Given the description of an element on the screen output the (x, y) to click on. 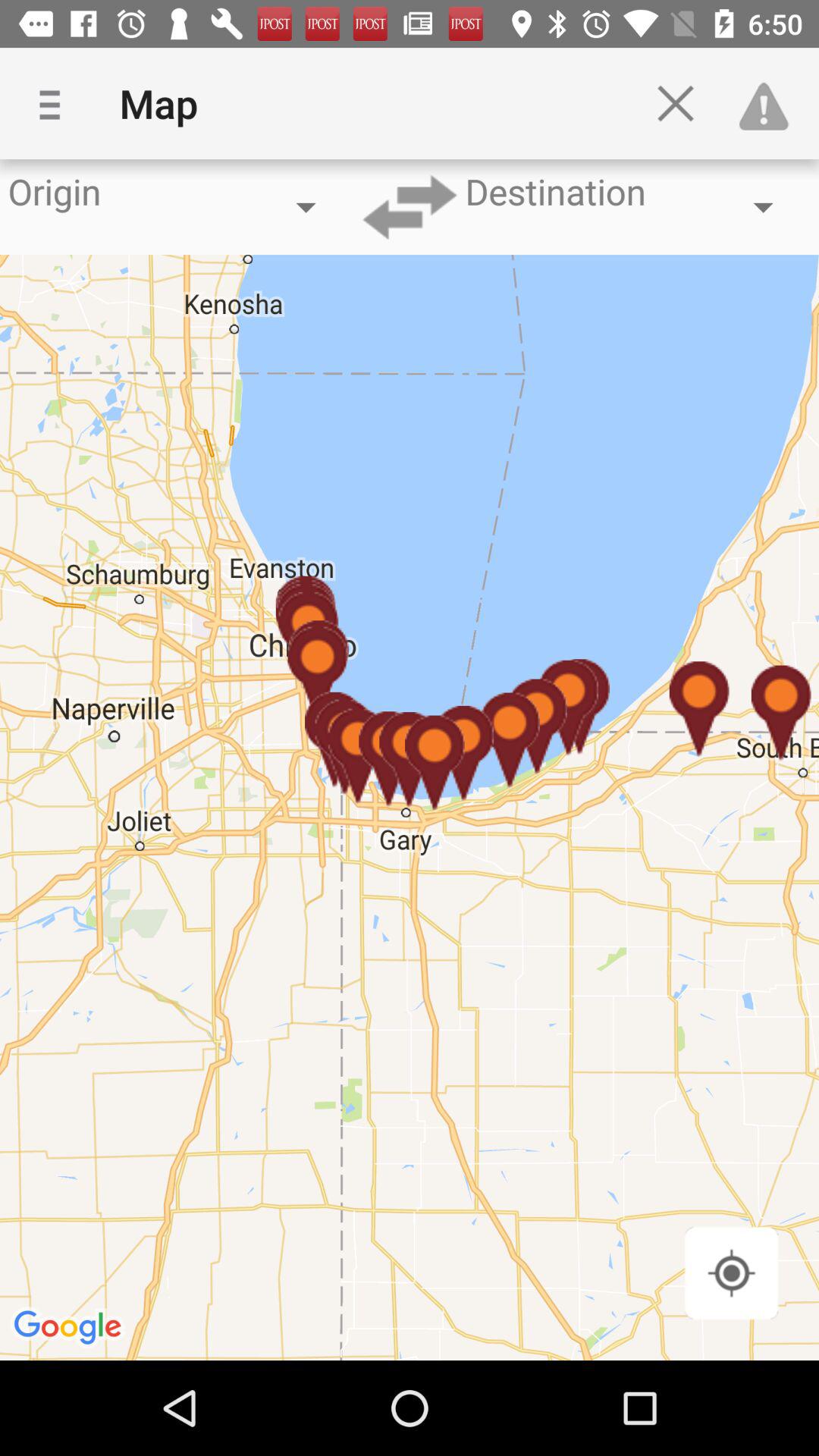
south shore (731, 1272)
